Given the description of an element on the screen output the (x, y) to click on. 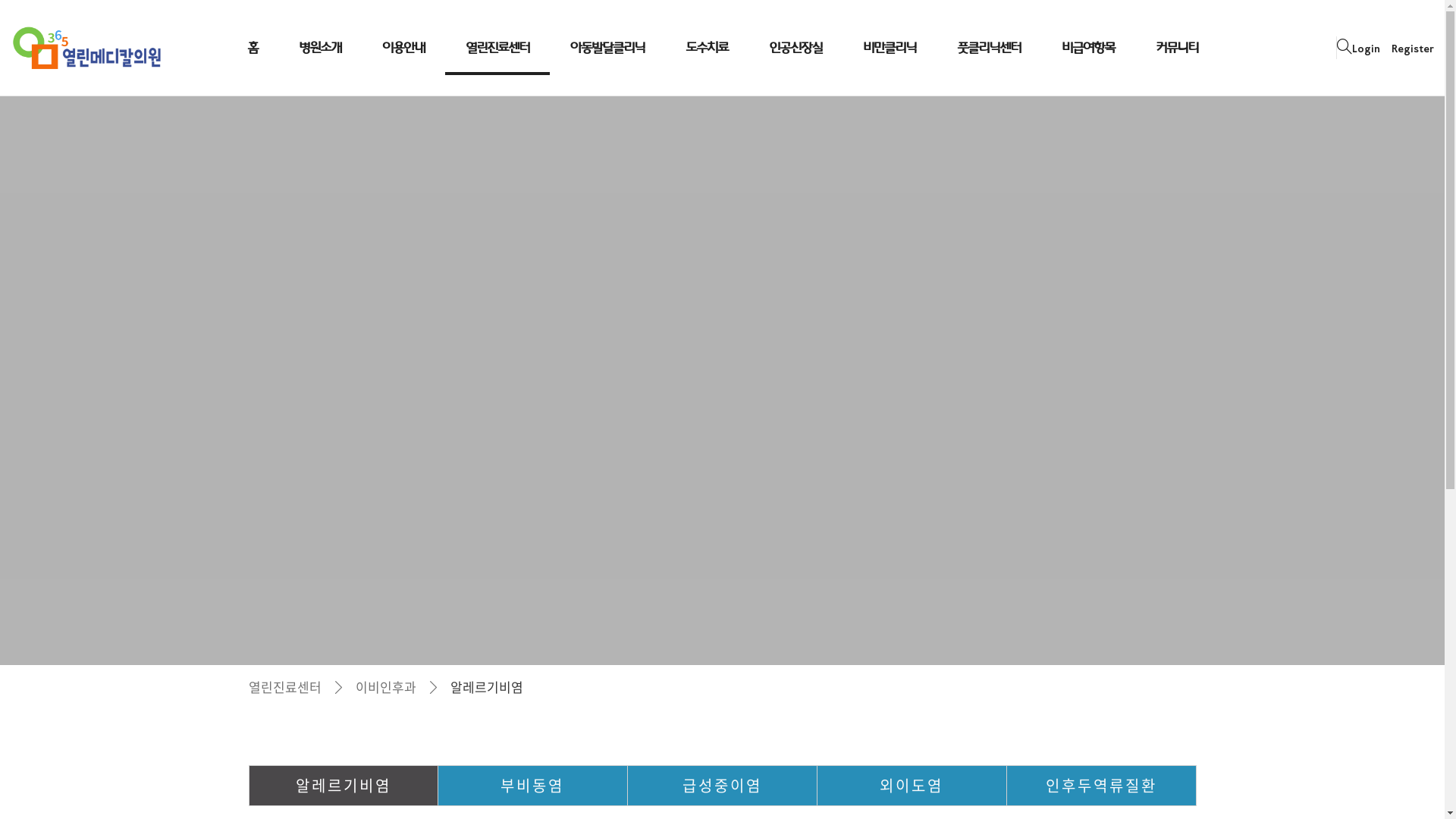
site search Element type: text (1344, 46)
Login Element type: text (1366, 47)
Register Element type: text (1412, 47)
